Given the description of an element on the screen output the (x, y) to click on. 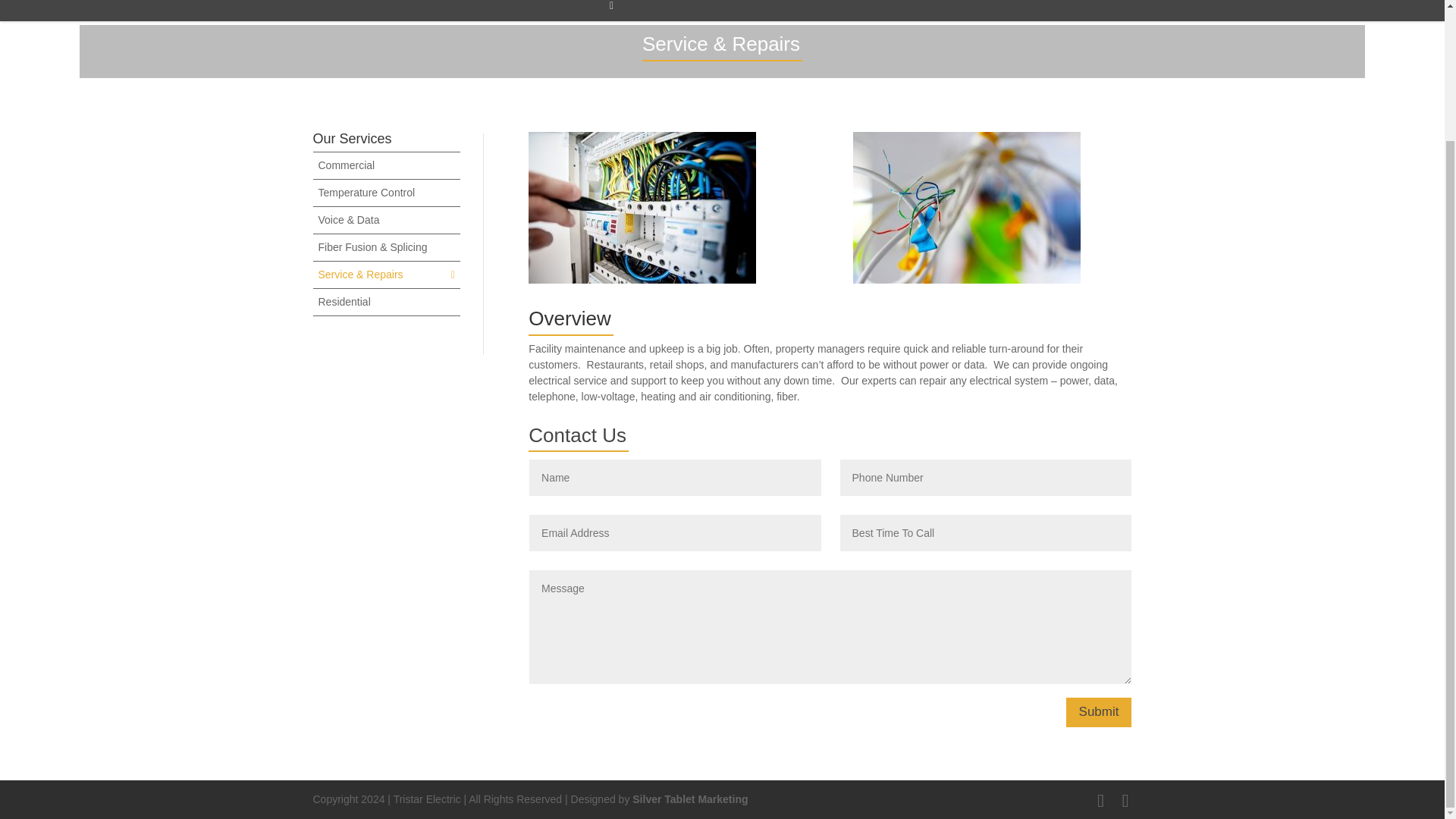
Contact Us (797, 10)
Silver Tablet Marketing (689, 799)
Services (608, 10)
Submit (1098, 712)
Employment (903, 10)
About Us (699, 10)
Residential (344, 301)
Home (526, 10)
Commercial (346, 164)
Temperature Control (366, 192)
